Given the description of an element on the screen output the (x, y) to click on. 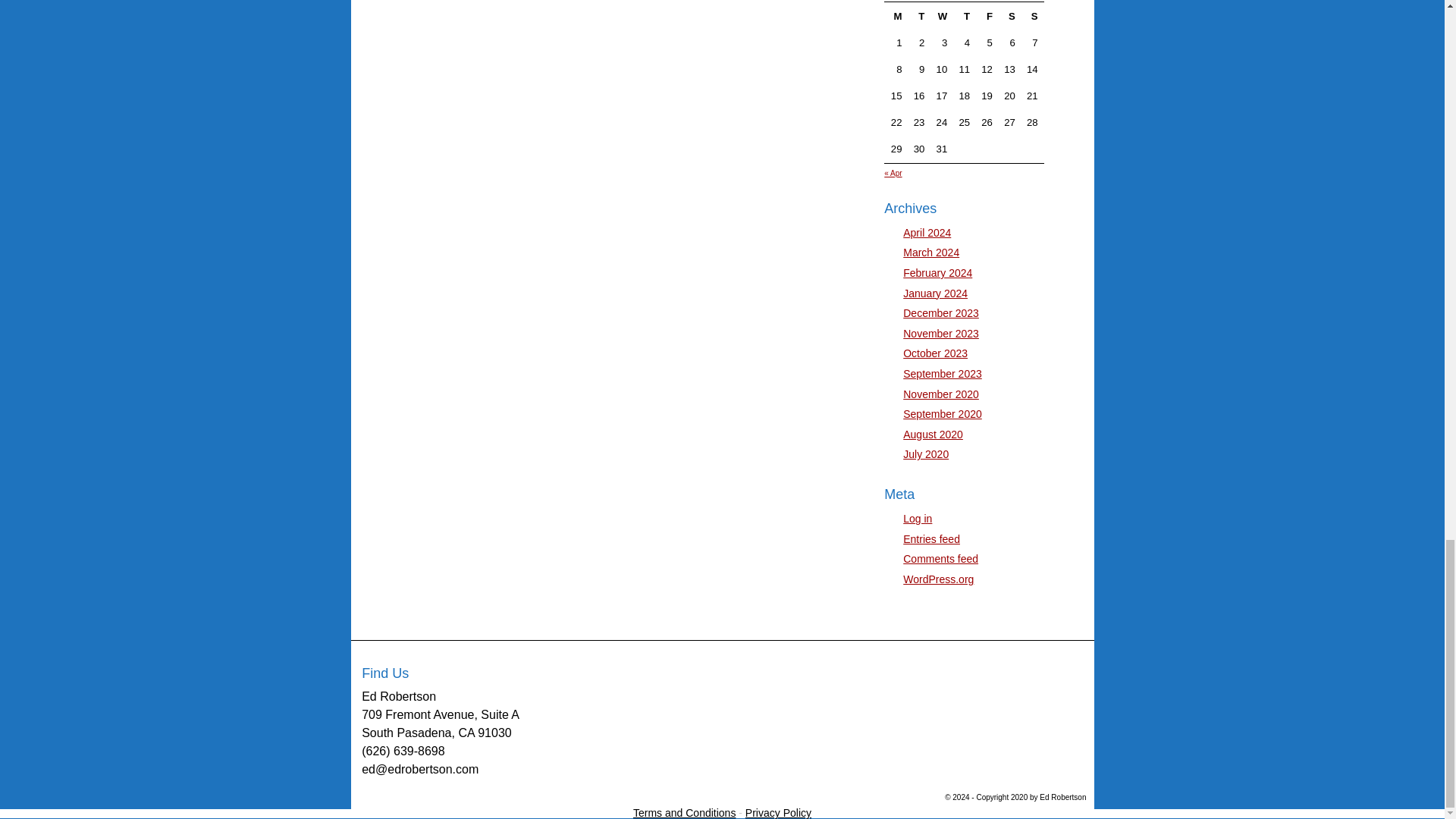
Friday (986, 16)
Saturday (1009, 16)
Monday (896, 16)
Thursday (964, 16)
Wednesday (941, 16)
Sunday (1032, 16)
Tuesday (919, 16)
